Given the description of an element on the screen output the (x, y) to click on. 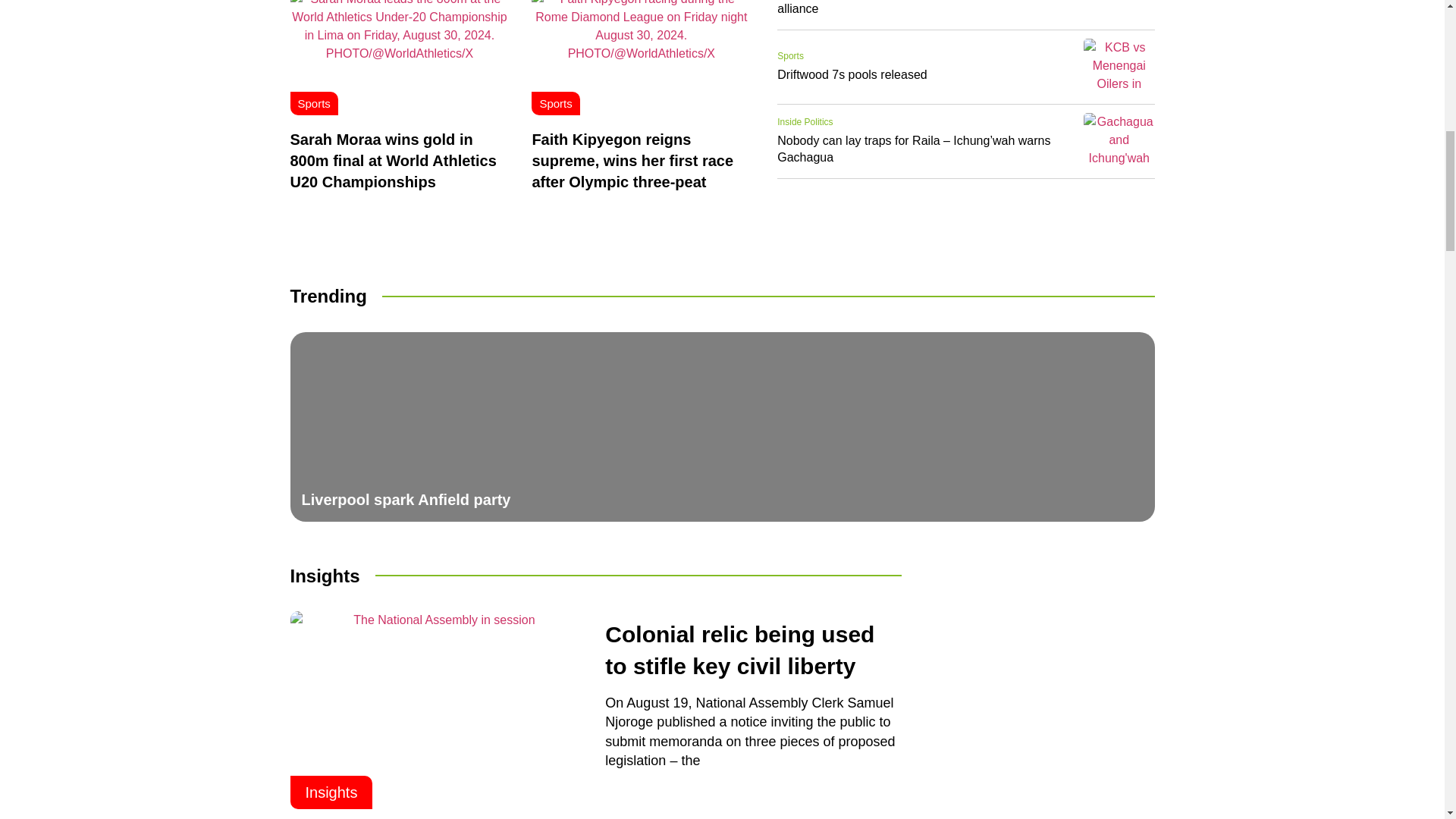
Sports (555, 103)
Sports (313, 103)
